Given the description of an element on the screen output the (x, y) to click on. 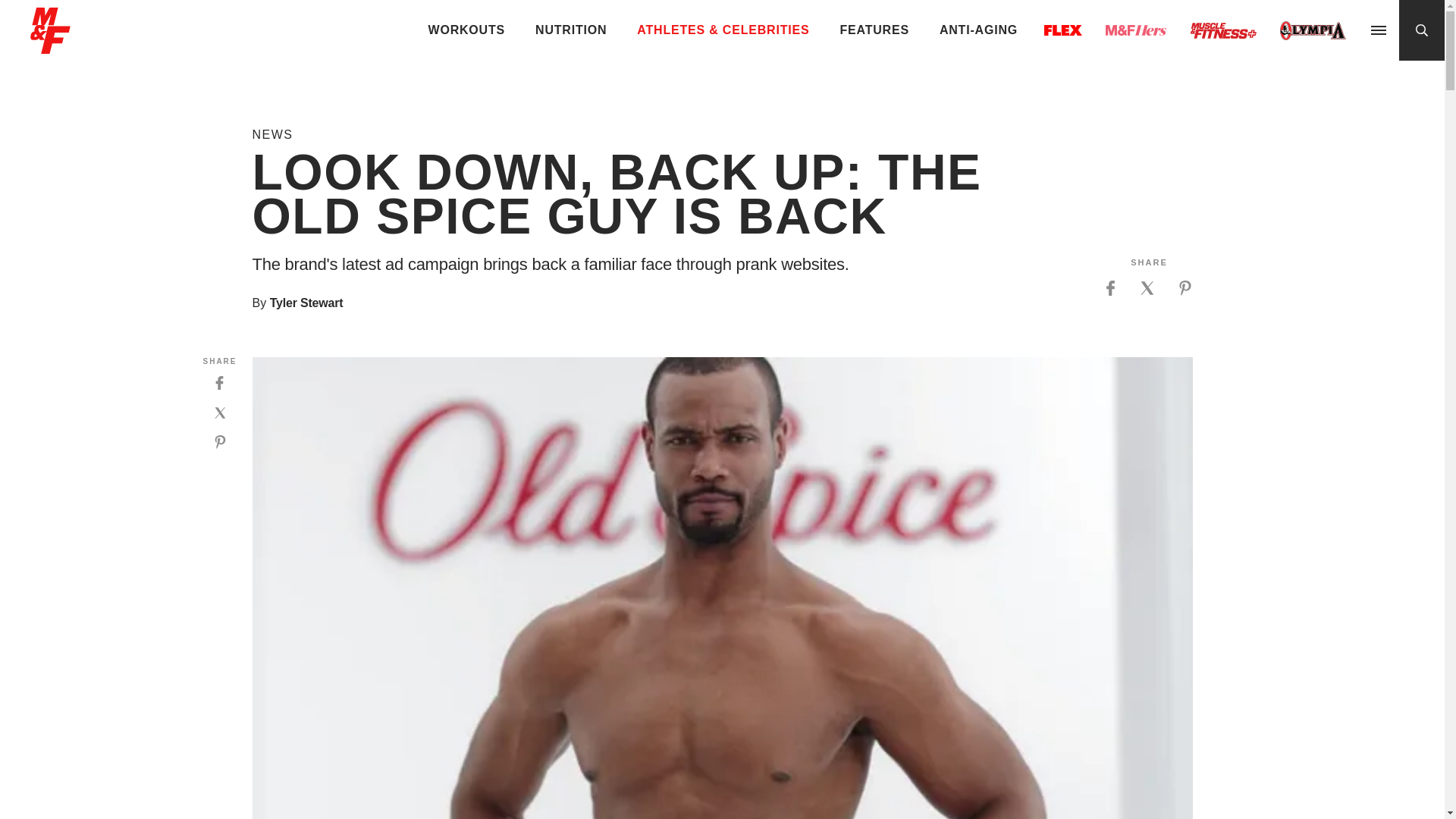
Click to share on Pinterest (1184, 287)
Posts by Tyler Stewart (306, 302)
Click to share on Twitter (219, 412)
Home (49, 47)
Click to share on Twitter (1146, 287)
NUTRITION (570, 30)
WORKOUTS (467, 30)
Click to share on Pinterest (219, 441)
